Given the description of an element on the screen output the (x, y) to click on. 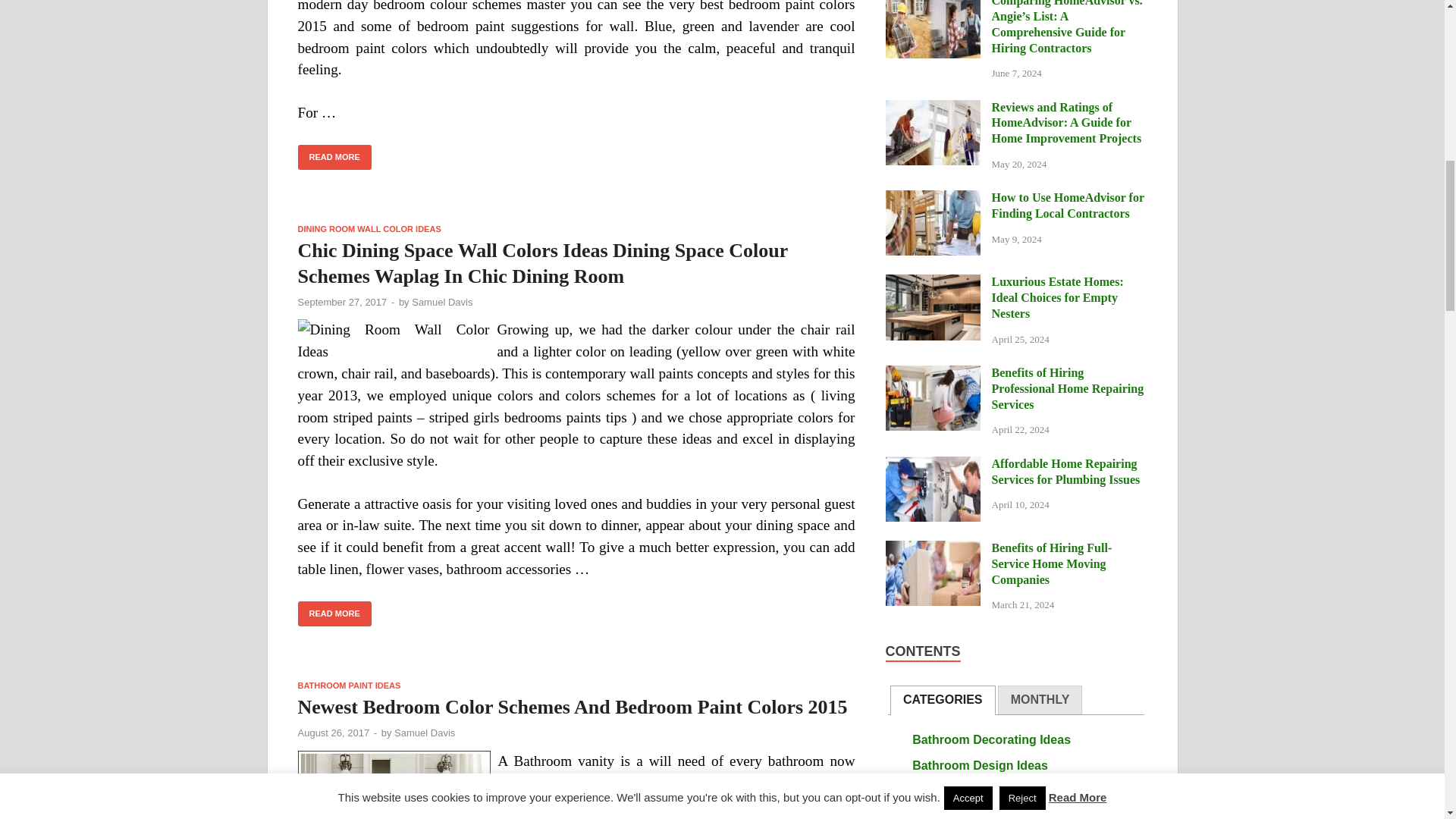
Luxurious Estate Homes: Ideal Choices for Empty Nesters (932, 282)
Benefits of Hiring Full-Service Home Moving Companies (932, 549)
How to Use HomeAdvisor for Finding Local Contractors (932, 198)
Affordable Home Repairing Services for Plumbing Issues (932, 464)
Benefits of Hiring Professional Home Repairing Services (932, 373)
